Given the description of an element on the screen output the (x, y) to click on. 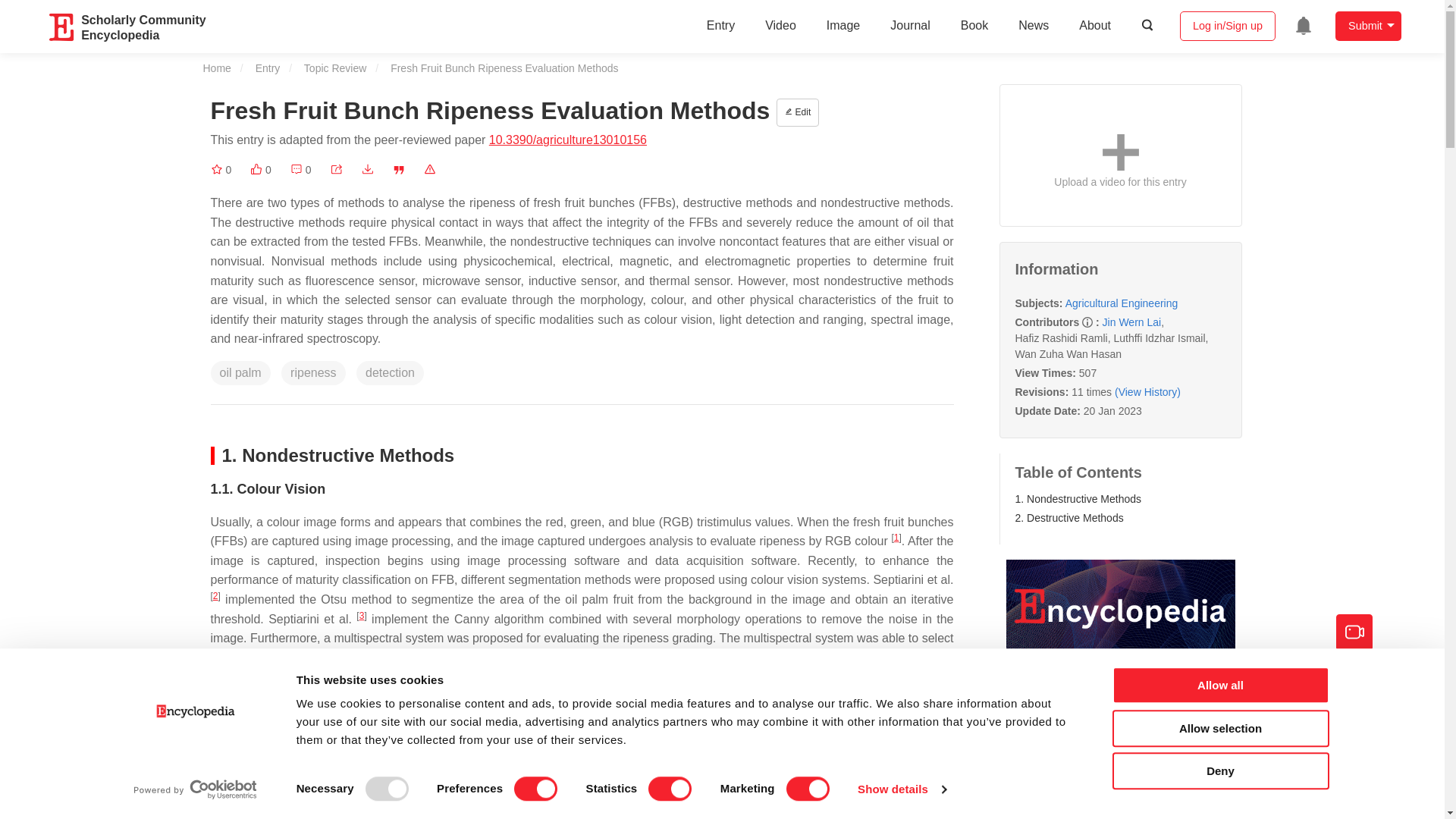
Edit (797, 112)
Comment (300, 169)
Like (260, 169)
Favorite (221, 169)
Show details (900, 789)
